Given the description of an element on the screen output the (x, y) to click on. 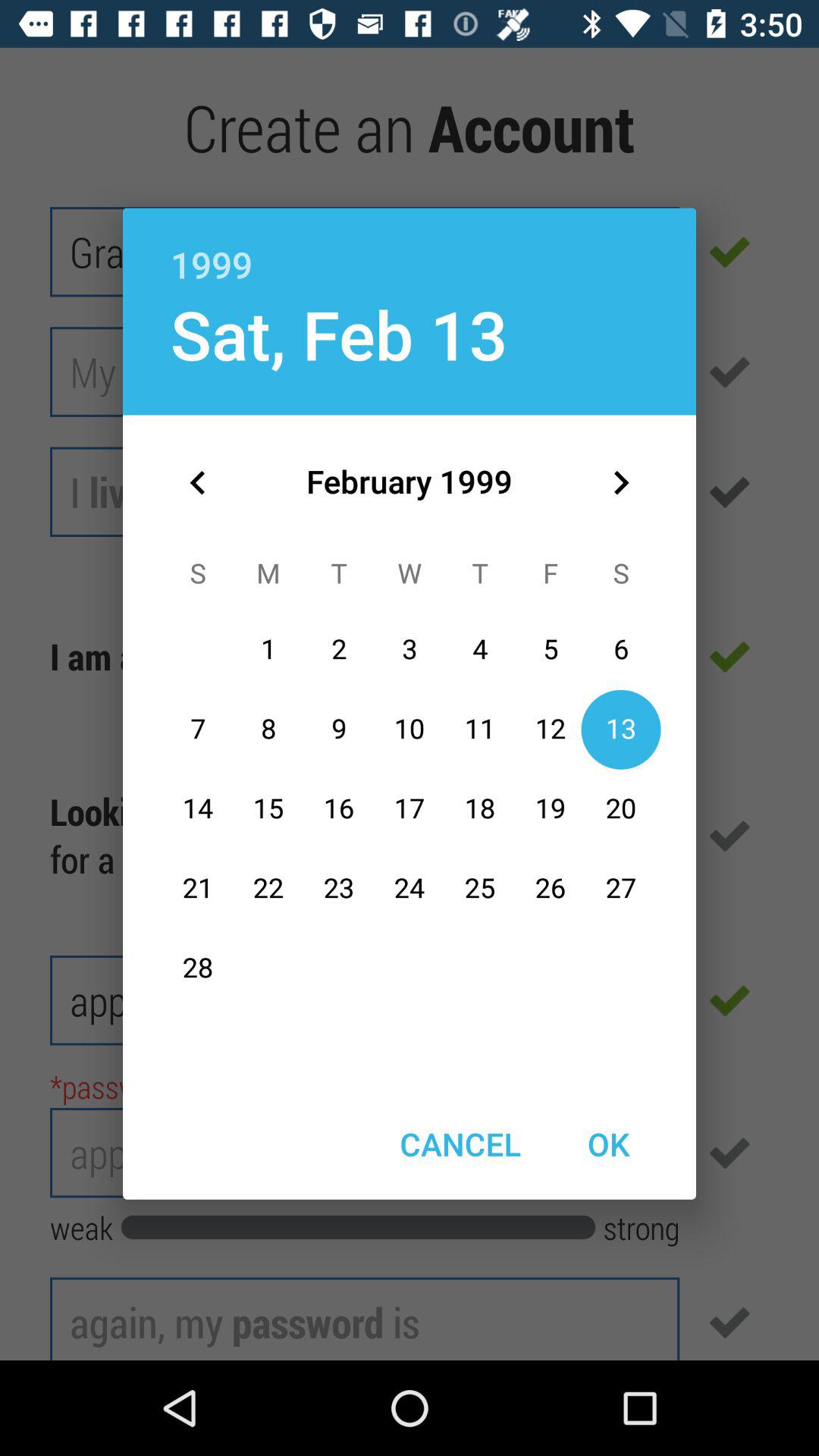
select the icon below sat, feb 13 icon (197, 482)
